Given the description of an element on the screen output the (x, y) to click on. 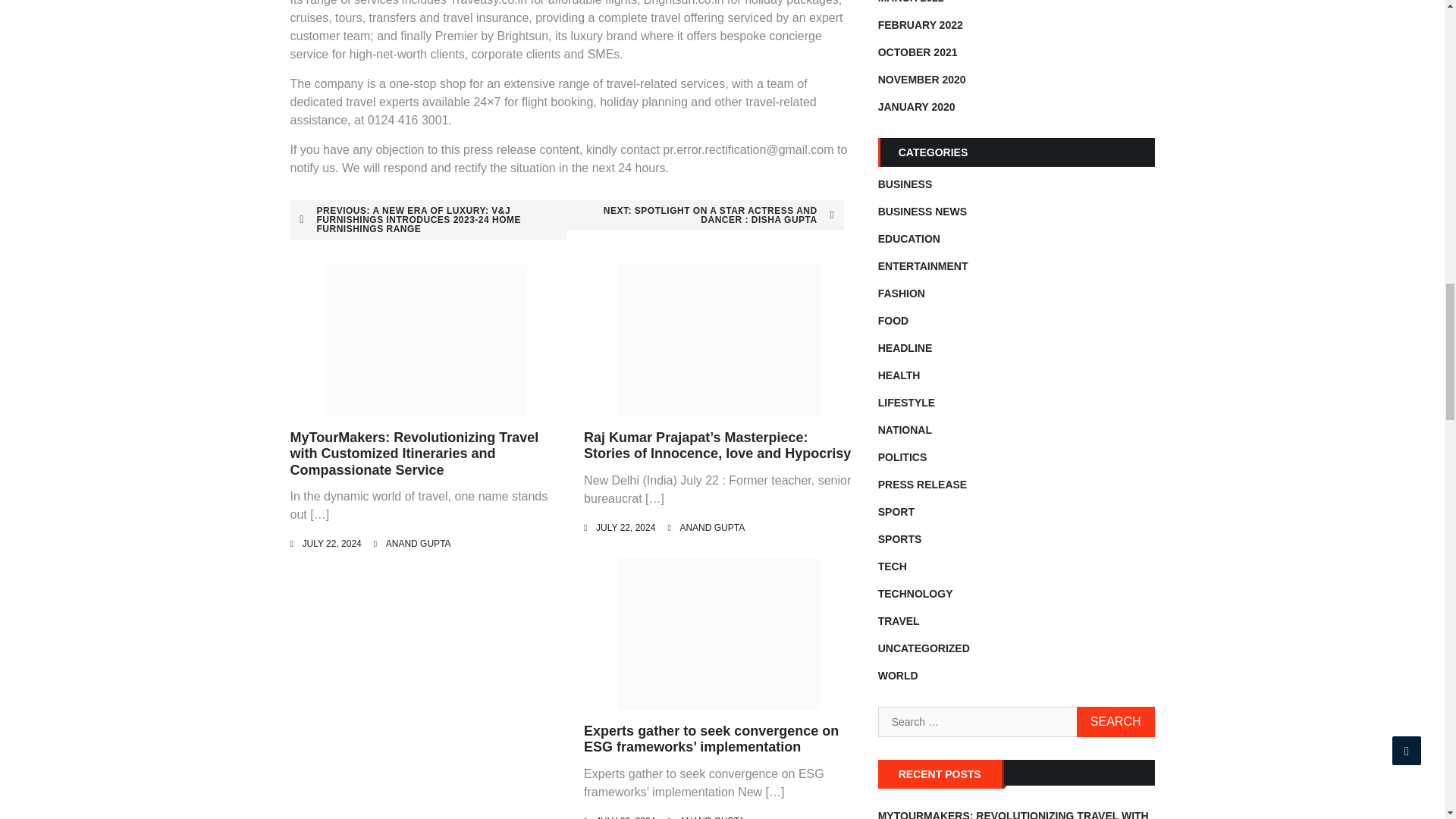
ANAND GUPTA (711, 817)
ANAND GUPTA (711, 527)
ANAND GUPTA (418, 543)
Search (1115, 721)
JULY 22, 2024 (331, 543)
JULY 22, 2024 (625, 527)
JULY 22, 2024 (625, 817)
NEXT: SPOTLIGHT ON A STAR ACTRESS AND DANCER : DISHA GUPTA (705, 214)
Search (1115, 721)
